Given the description of an element on the screen output the (x, y) to click on. 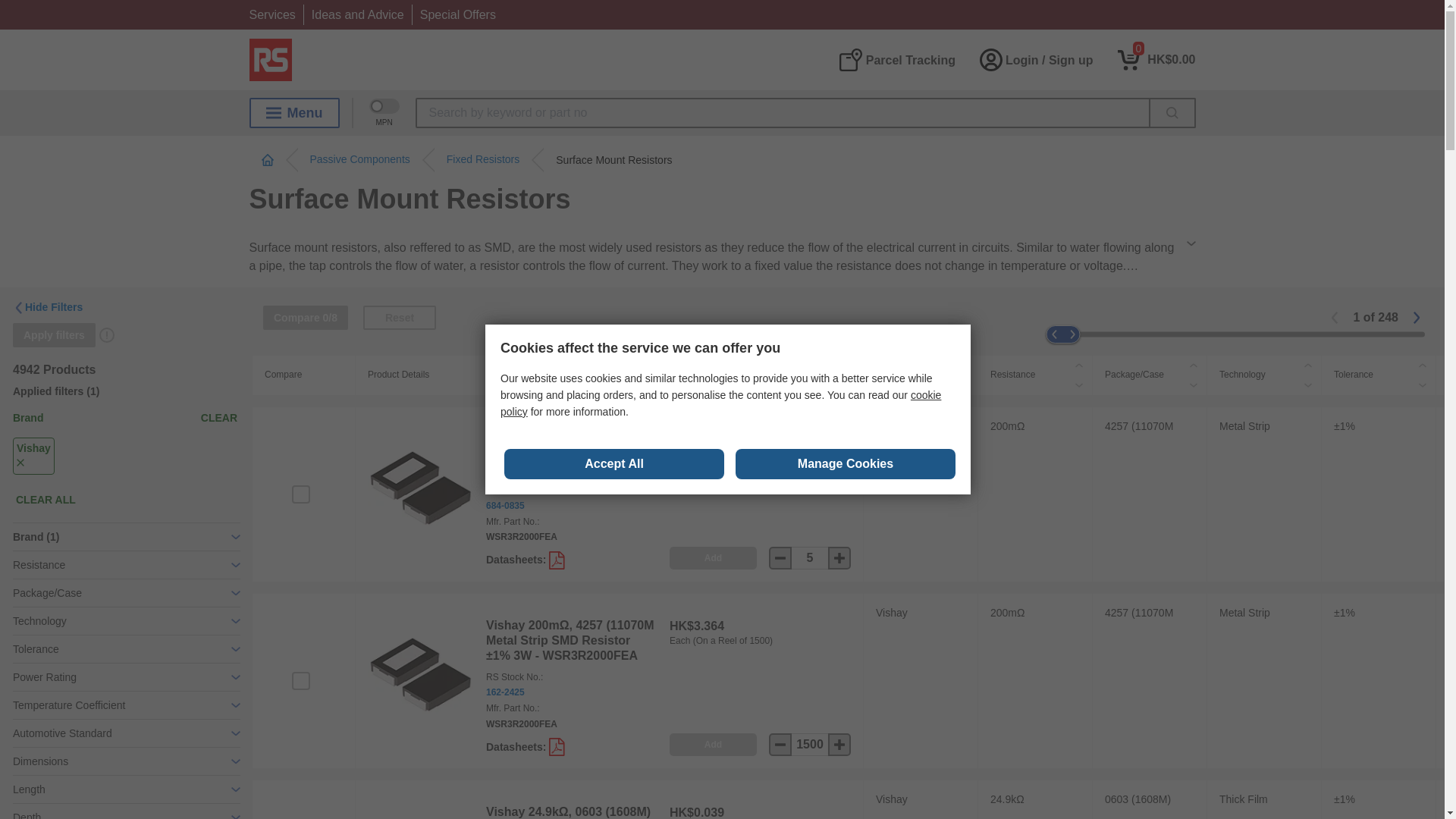
Sort ascending (964, 365)
Ideas and Advice (357, 14)
Sort ascending (850, 365)
Sort descending (850, 384)
Sort descending (1193, 384)
Sort ascending (1193, 365)
Sort ascending (1422, 365)
0 (1156, 59)
Sort descending (1307, 384)
Sort descending (964, 384)
Menu (293, 112)
Sort ascending (1307, 365)
Services (271, 14)
1500 (810, 744)
Sort descending (1078, 384)
